Given the description of an element on the screen output the (x, y) to click on. 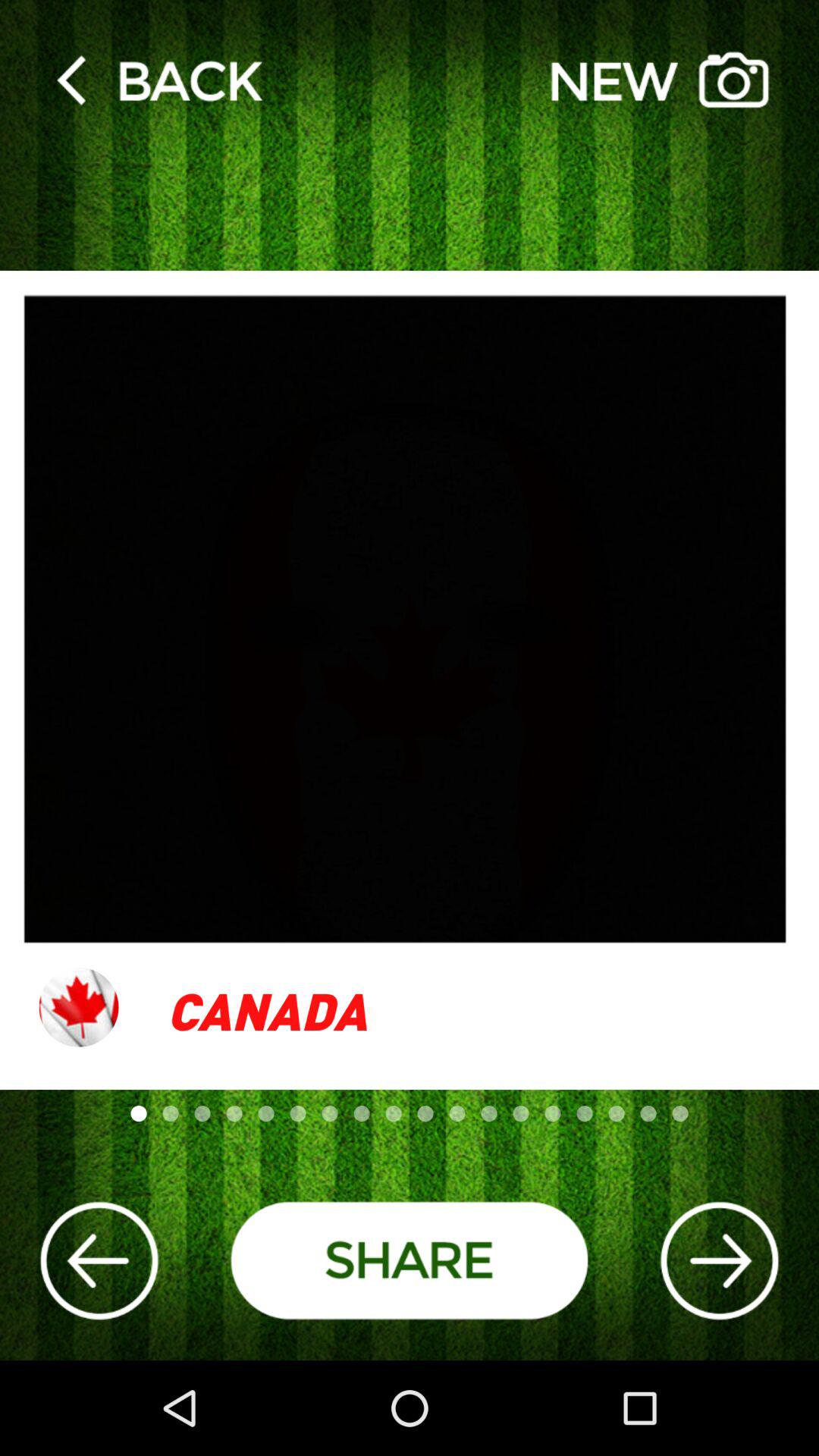
share (409, 1260)
